Given the description of an element on the screen output the (x, y) to click on. 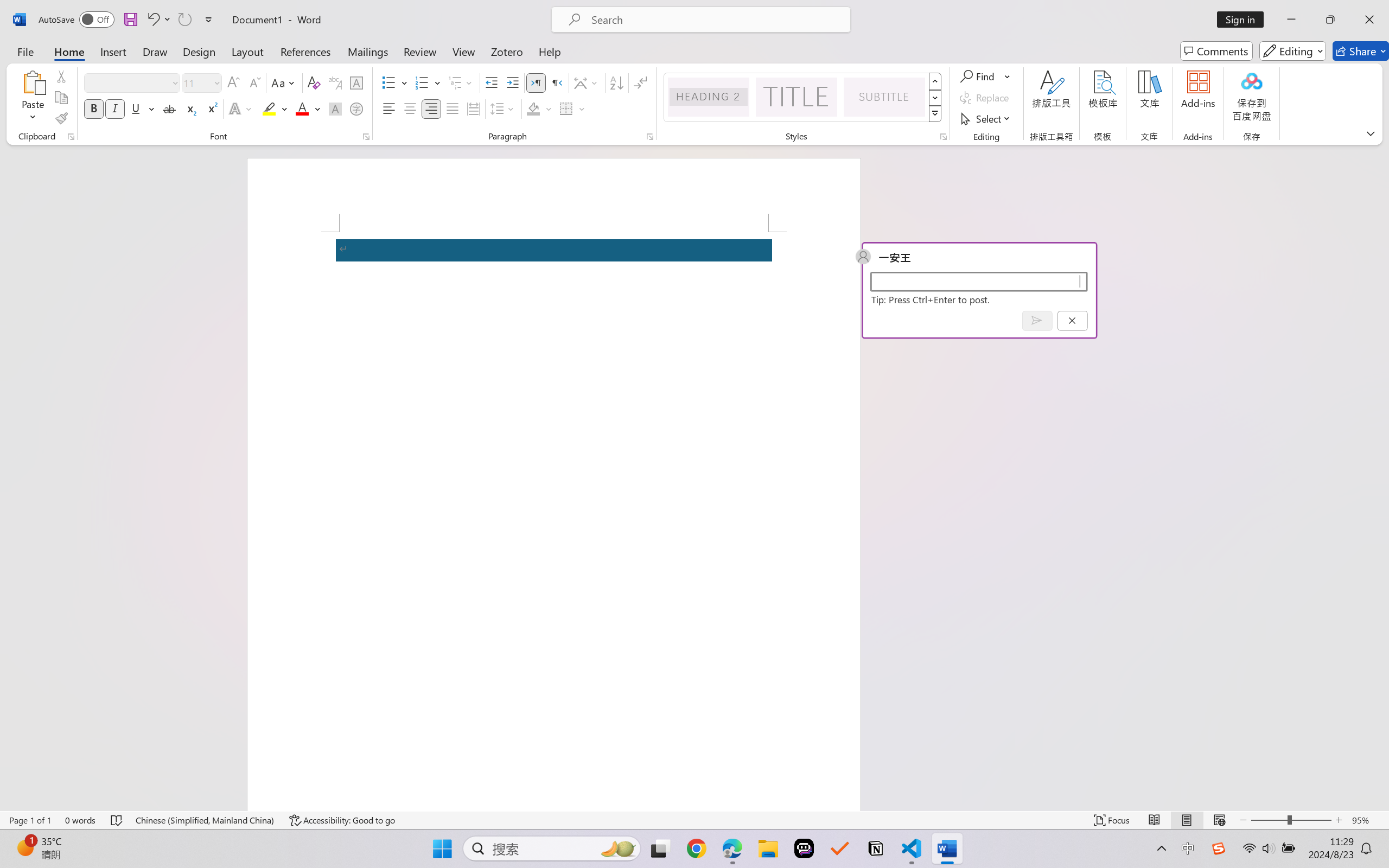
Sign in (1244, 19)
